Given the description of an element on the screen output the (x, y) to click on. 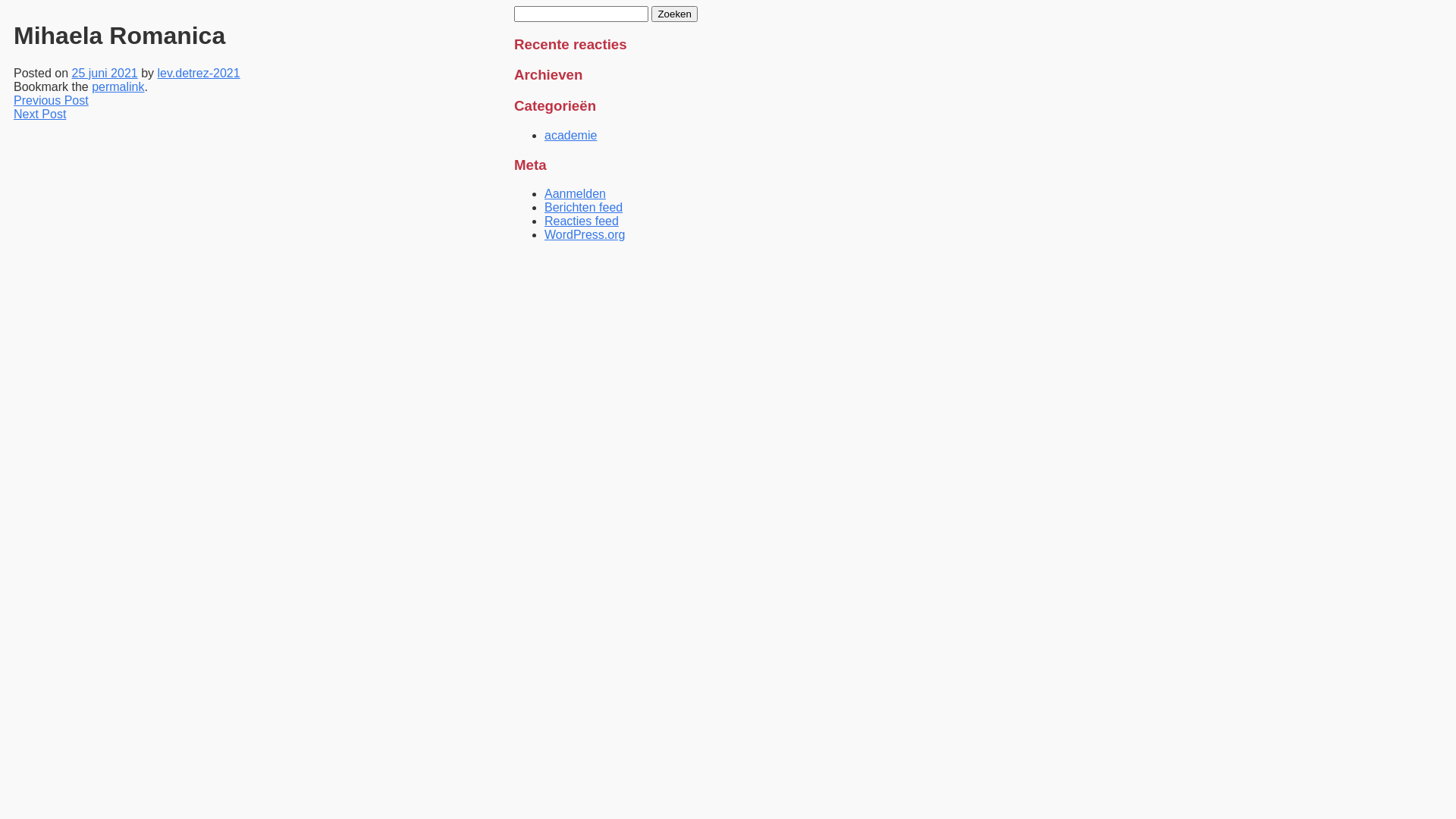
Aanmelden Element type: text (574, 193)
WordPress.org Element type: text (584, 234)
academie Element type: text (570, 134)
Reacties feed Element type: text (581, 220)
25 juni 2021 Element type: text (105, 72)
Zoeken Element type: text (673, 13)
Next Post Element type: text (39, 113)
lev.detrez-2021 Element type: text (198, 72)
Previous Post Element type: text (50, 100)
permalink Element type: text (117, 86)
Berichten feed Element type: text (583, 206)
